Given the description of an element on the screen output the (x, y) to click on. 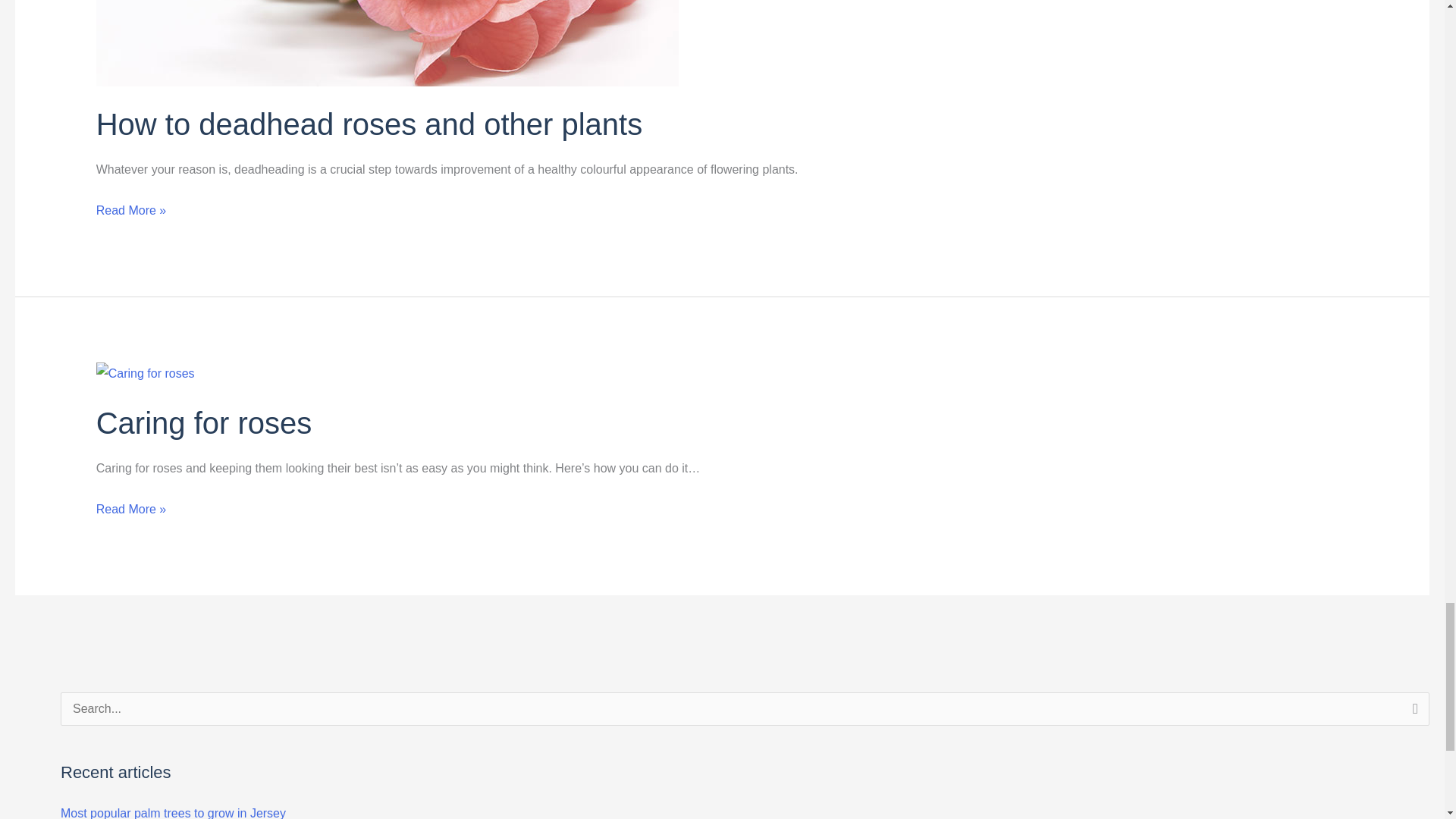
How to deadhead roses and other plants (369, 123)
Caring for roses (204, 422)
Most popular palm trees to grow in Jersey (173, 812)
